Given the description of an element on the screen output the (x, y) to click on. 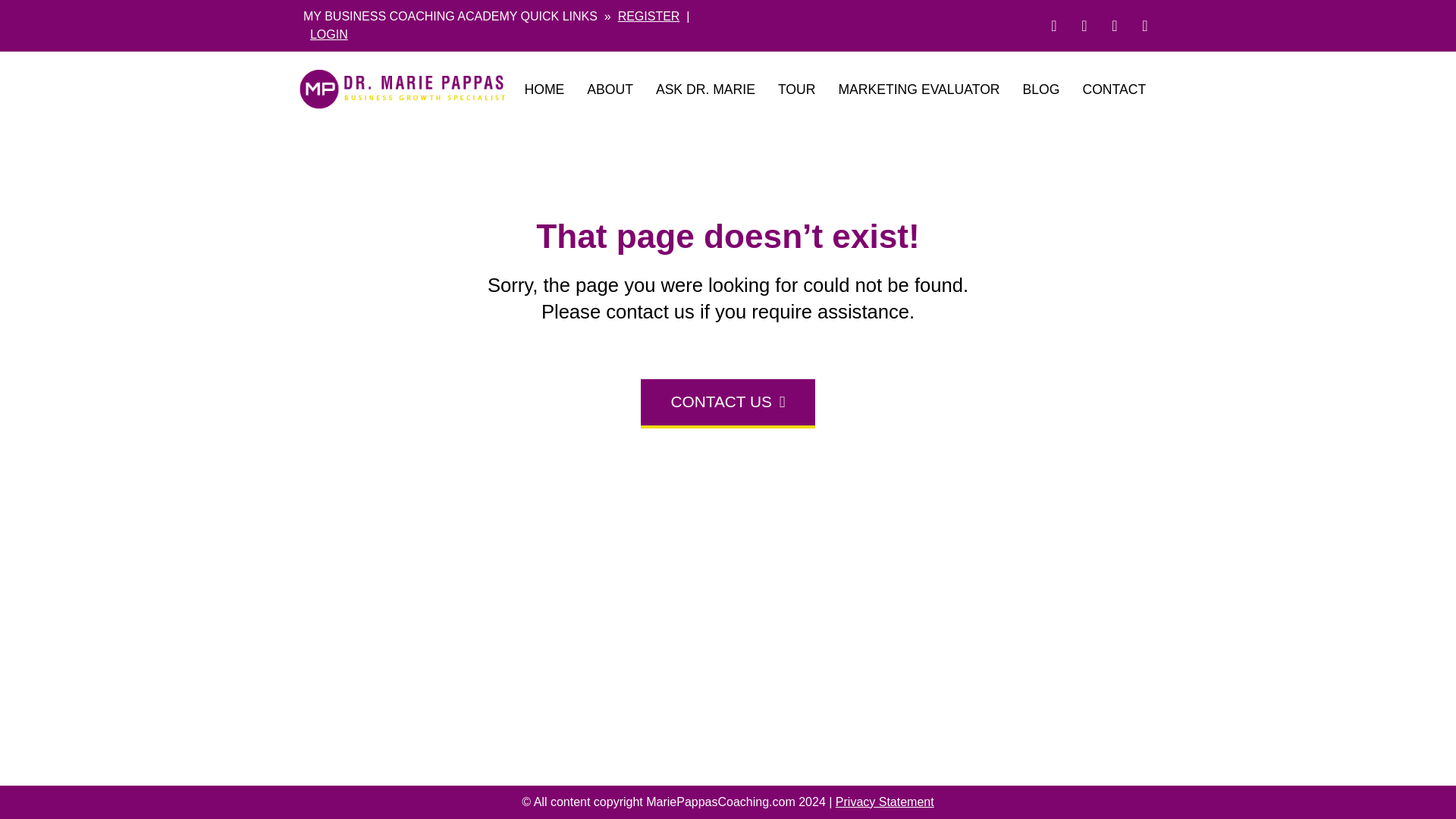
MARKETING EVALUATOR (918, 89)
CONTACT (1113, 89)
BLOG (1041, 89)
TOUR (797, 89)
Privacy Statement (884, 801)
HOME (543, 89)
REGISTER (648, 15)
ABOUT (610, 89)
LOGIN (328, 33)
ASK DR. MARIE (706, 89)
